Given the description of an element on the screen output the (x, y) to click on. 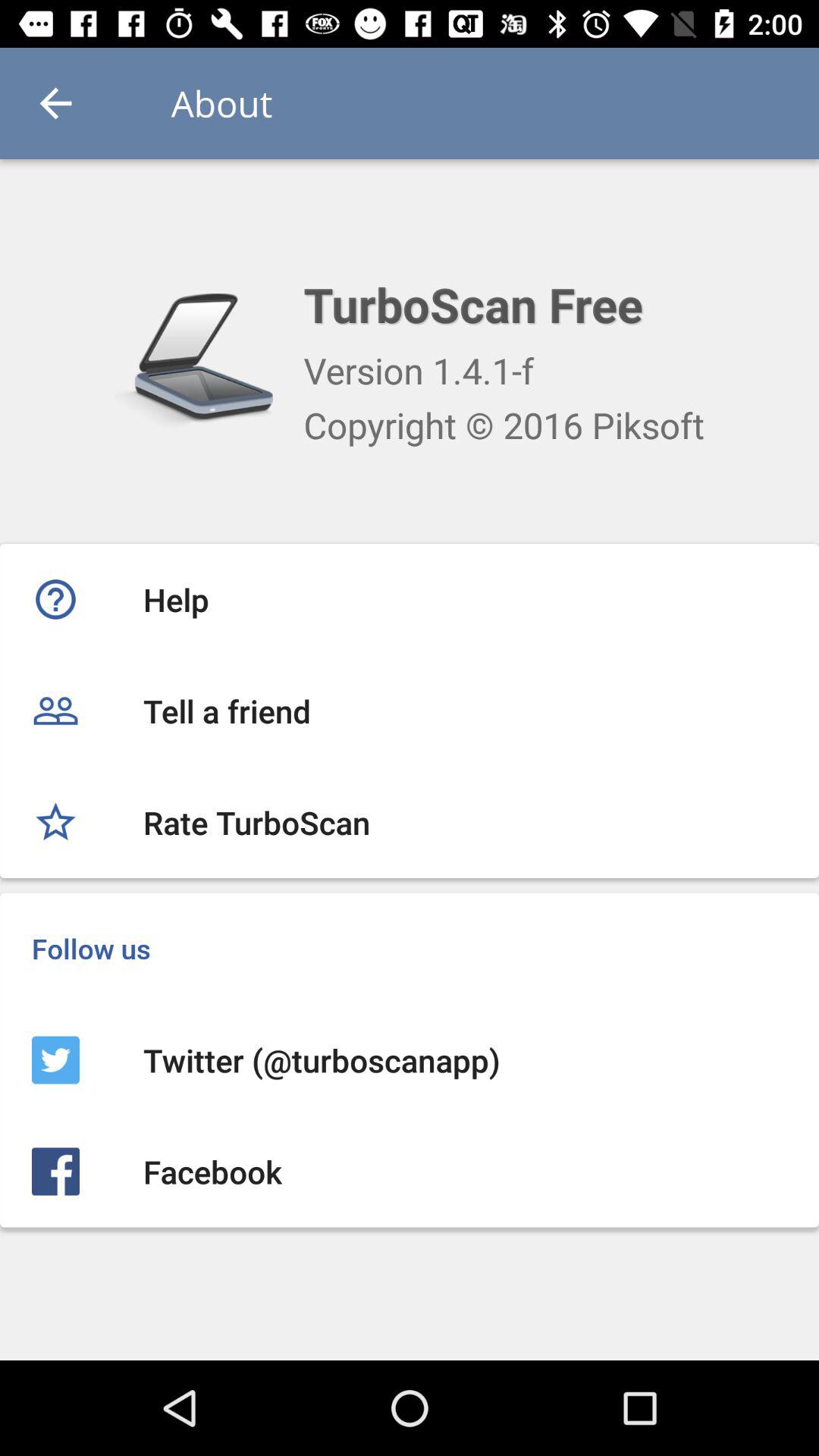
turn on icon below turboscan free icon (418, 370)
